Given the description of an element on the screen output the (x, y) to click on. 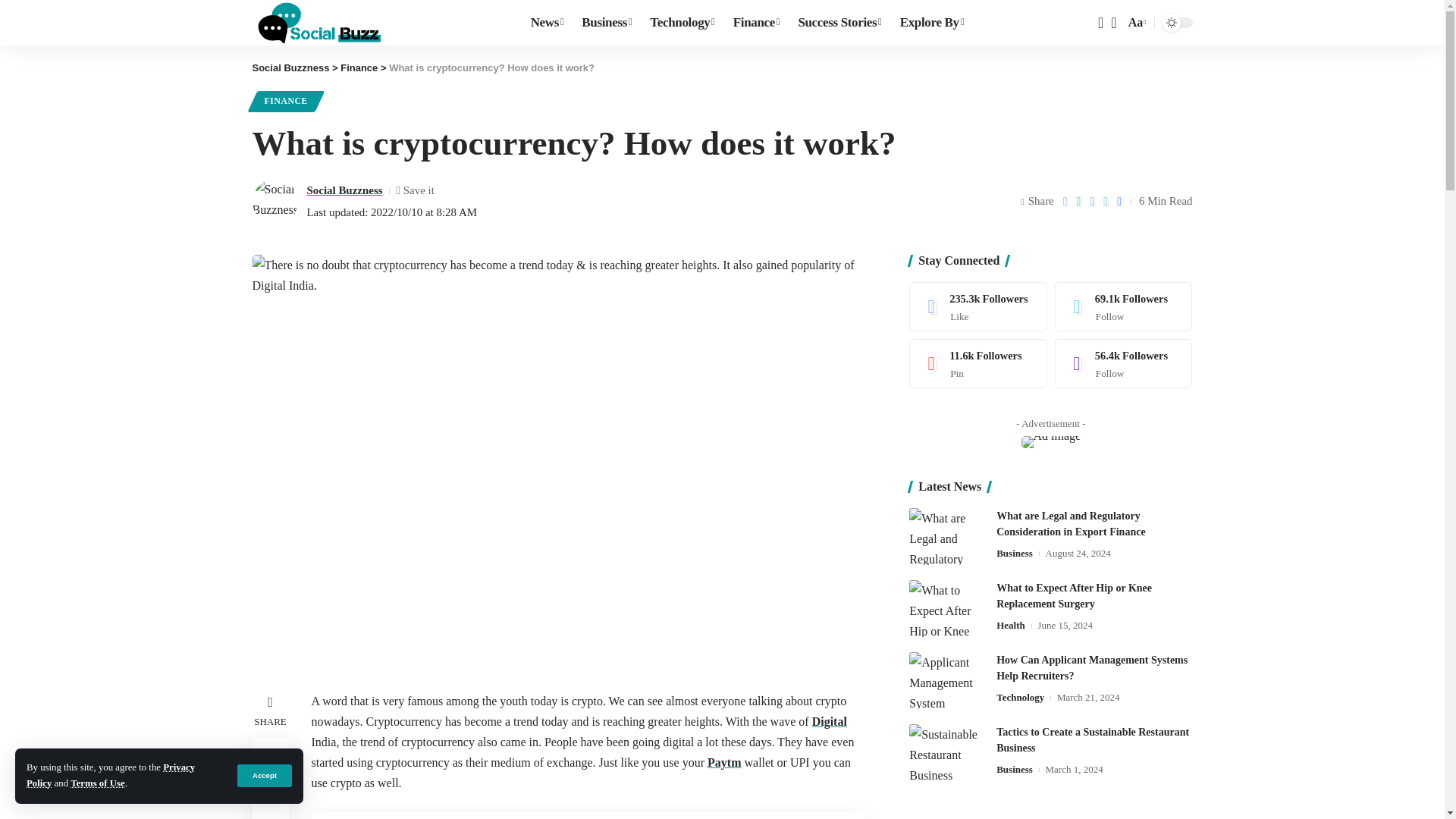
Social Buzzness (317, 22)
Privacy Policy (110, 774)
News (547, 22)
Technology (681, 22)
Business (606, 22)
Terms of Use (96, 783)
Accept (264, 775)
